Given the description of an element on the screen output the (x, y) to click on. 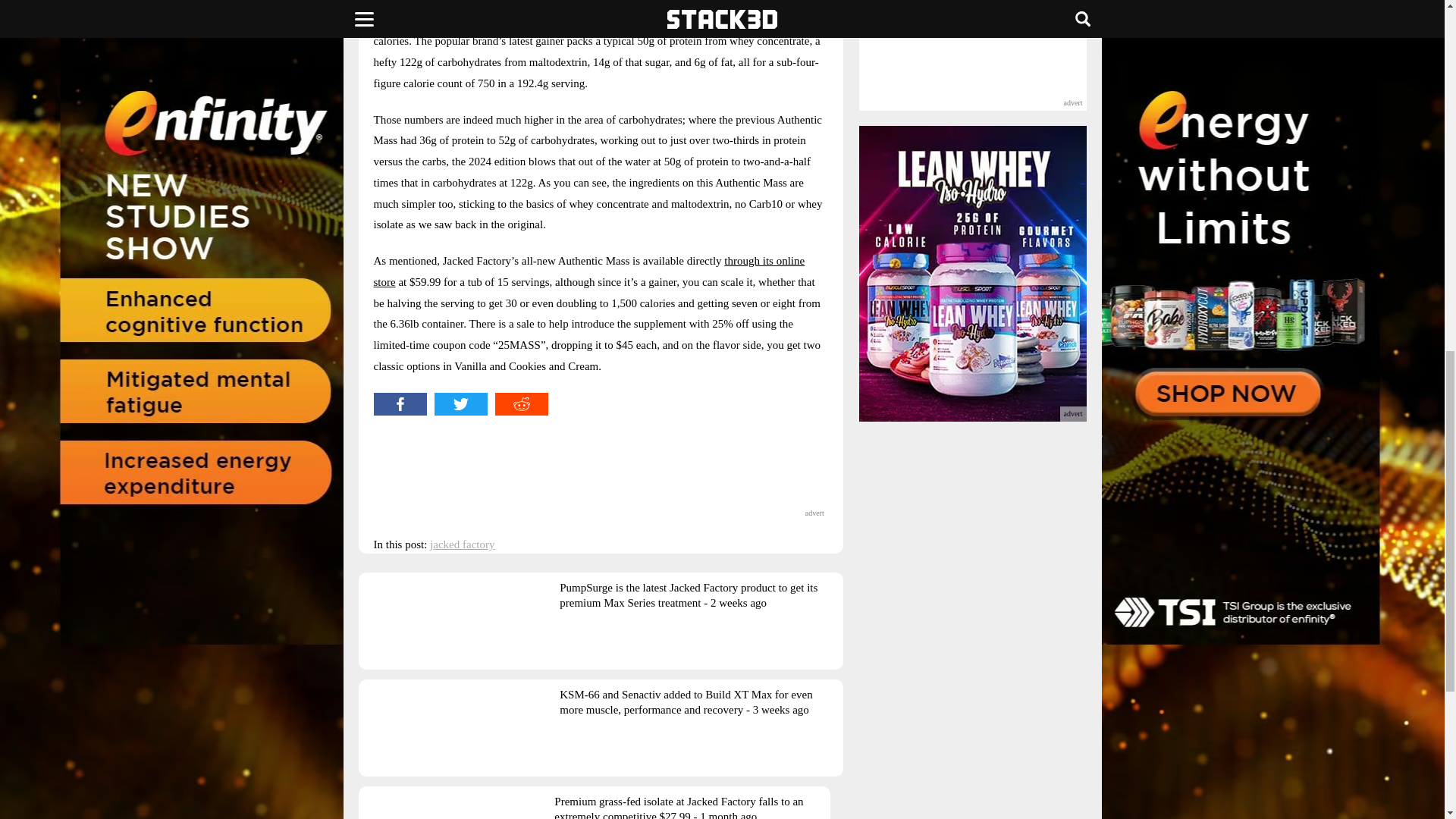
through its online store (588, 271)
Authentic Mass (648, 2)
